Given the description of an element on the screen output the (x, y) to click on. 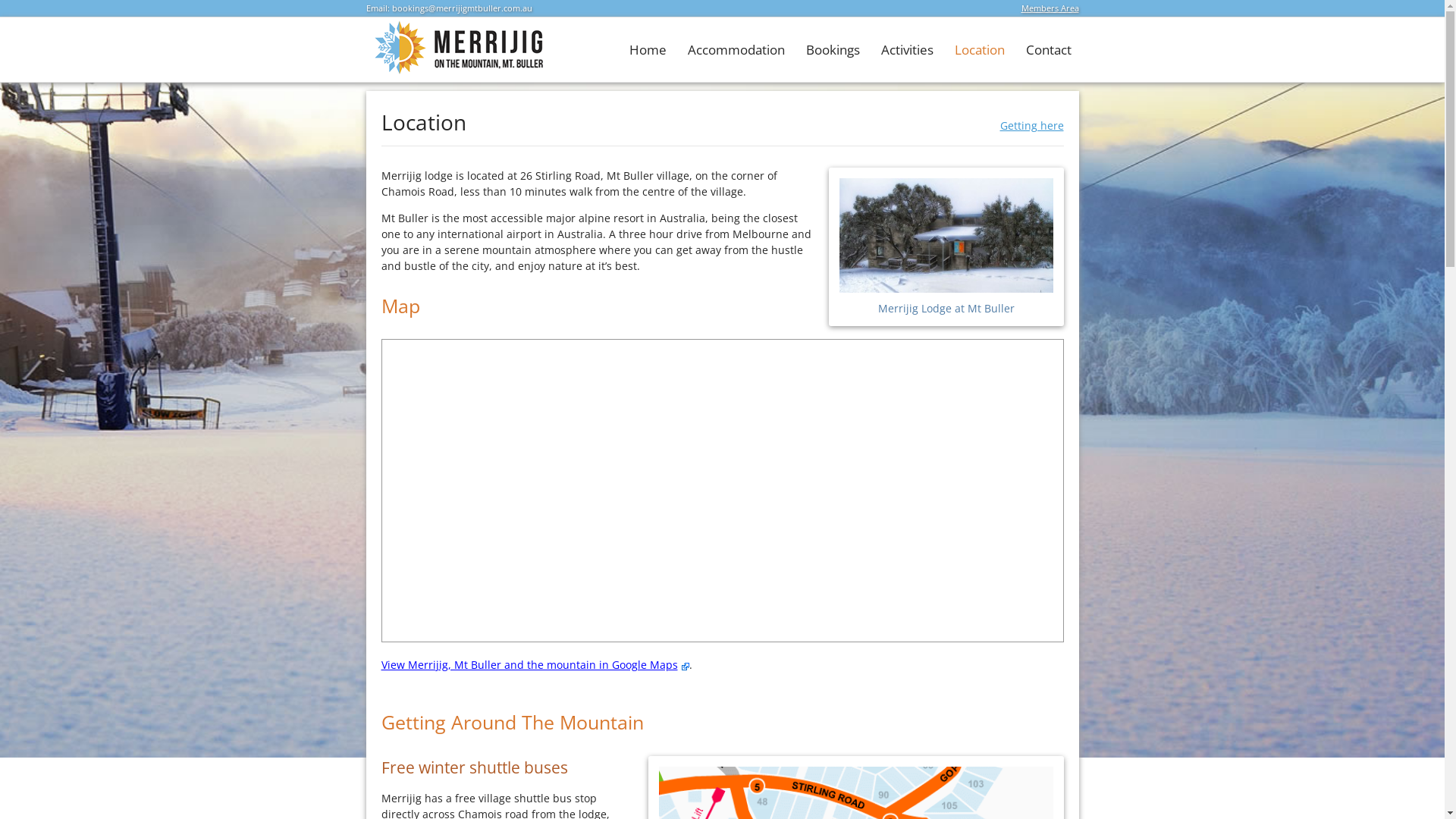
Getting here Element type: text (1031, 125)
bookings@merrijigmtbuller.com.au Element type: text (461, 7)
Activities Element type: text (907, 49)
Bookings Element type: text (832, 49)
Merrijig Lodge, Mount Buller, Victoria, Australia Element type: hover (454, 70)
Home Element type: text (647, 49)
View Merrijig, Mt Buller and the mountain in Google Maps Element type: text (534, 664)
Accommodation Element type: text (735, 49)
Members Area Element type: text (1049, 7)
Location Element type: text (978, 49)
Contact Element type: text (1047, 49)
